Given the description of an element on the screen output the (x, y) to click on. 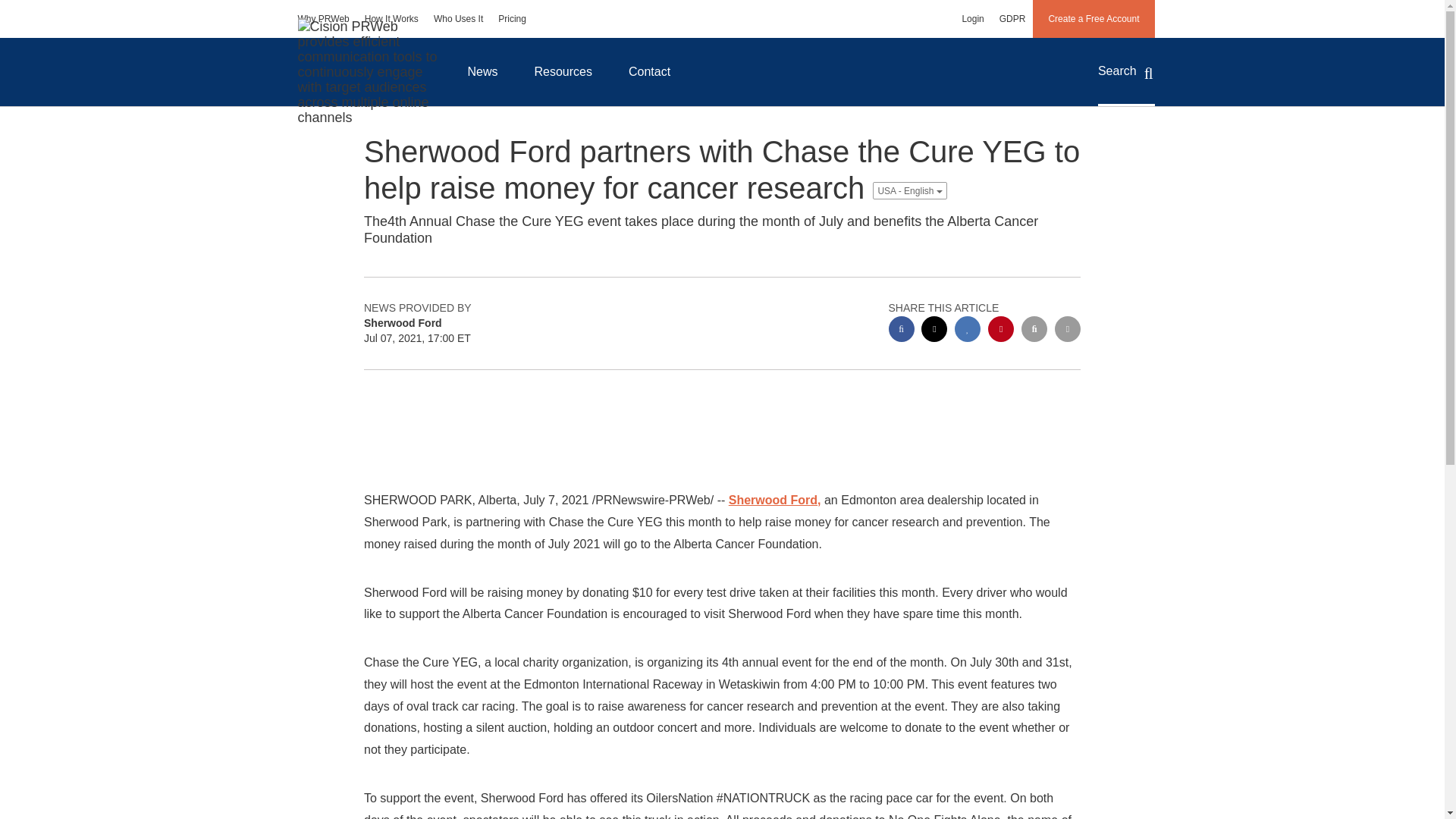
Login (972, 18)
Why PRWeb (322, 18)
News (481, 71)
Pricing (512, 18)
Contact (649, 71)
Create a Free Account (1093, 18)
Resources (563, 71)
Who Uses It (458, 18)
GDPR (1012, 18)
